Given the description of an element on the screen output the (x, y) to click on. 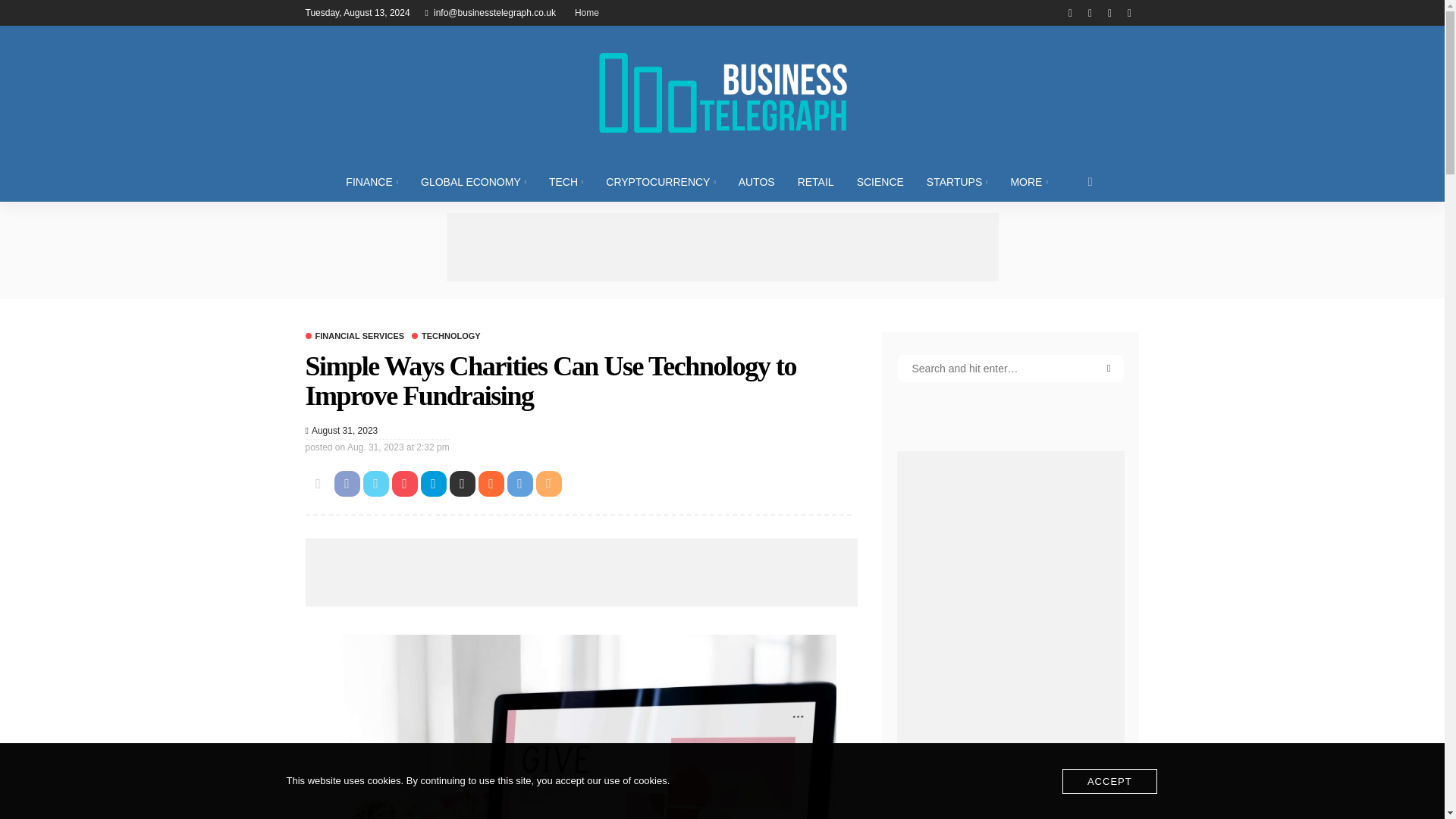
Business Telegraph (721, 93)
FINANCE (371, 181)
Advertisement (721, 246)
Home (587, 12)
Financial Services (354, 336)
technology (446, 336)
search (1089, 181)
Advertisement (580, 572)
